Given the description of an element on the screen output the (x, y) to click on. 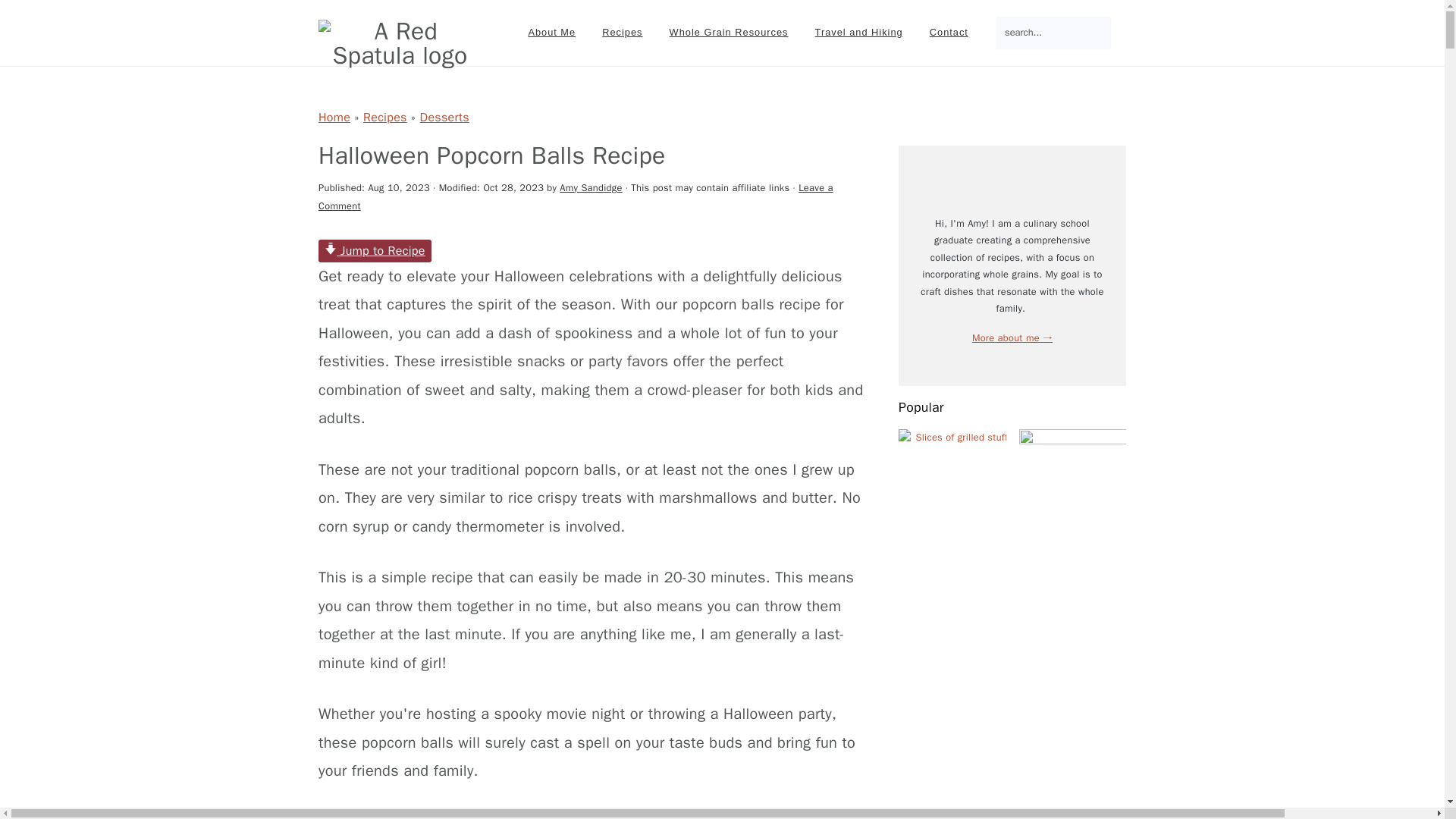
Whole Grain Resources (728, 32)
Contact (948, 32)
Recipes (622, 32)
A Red Spatula (399, 43)
About Me (551, 32)
Travel and Hiking (858, 32)
A Red Spatula (399, 55)
